Given the description of an element on the screen output the (x, y) to click on. 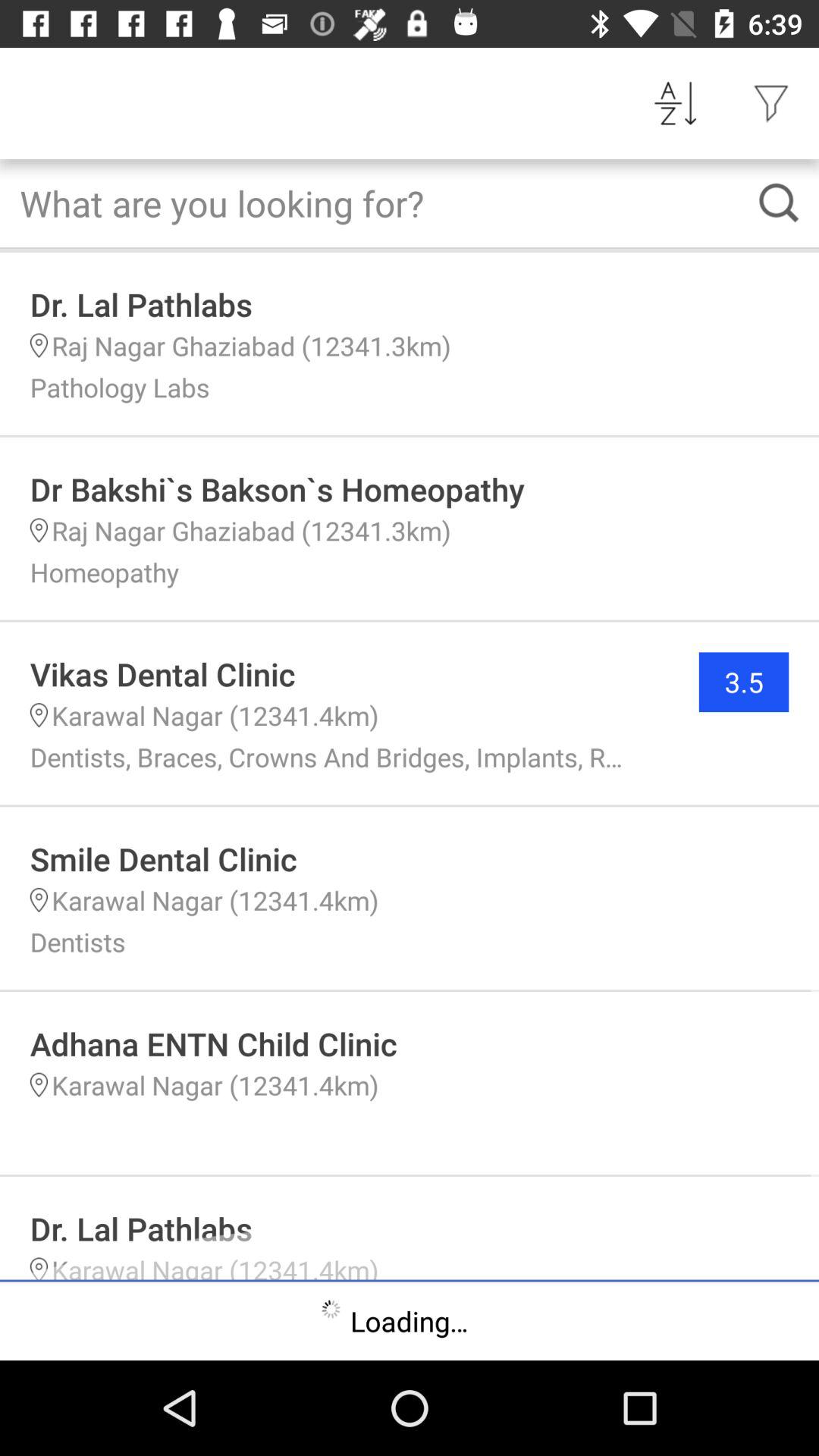
select the location option below adhana child clinic (38, 1085)
